Given the description of an element on the screen output the (x, y) to click on. 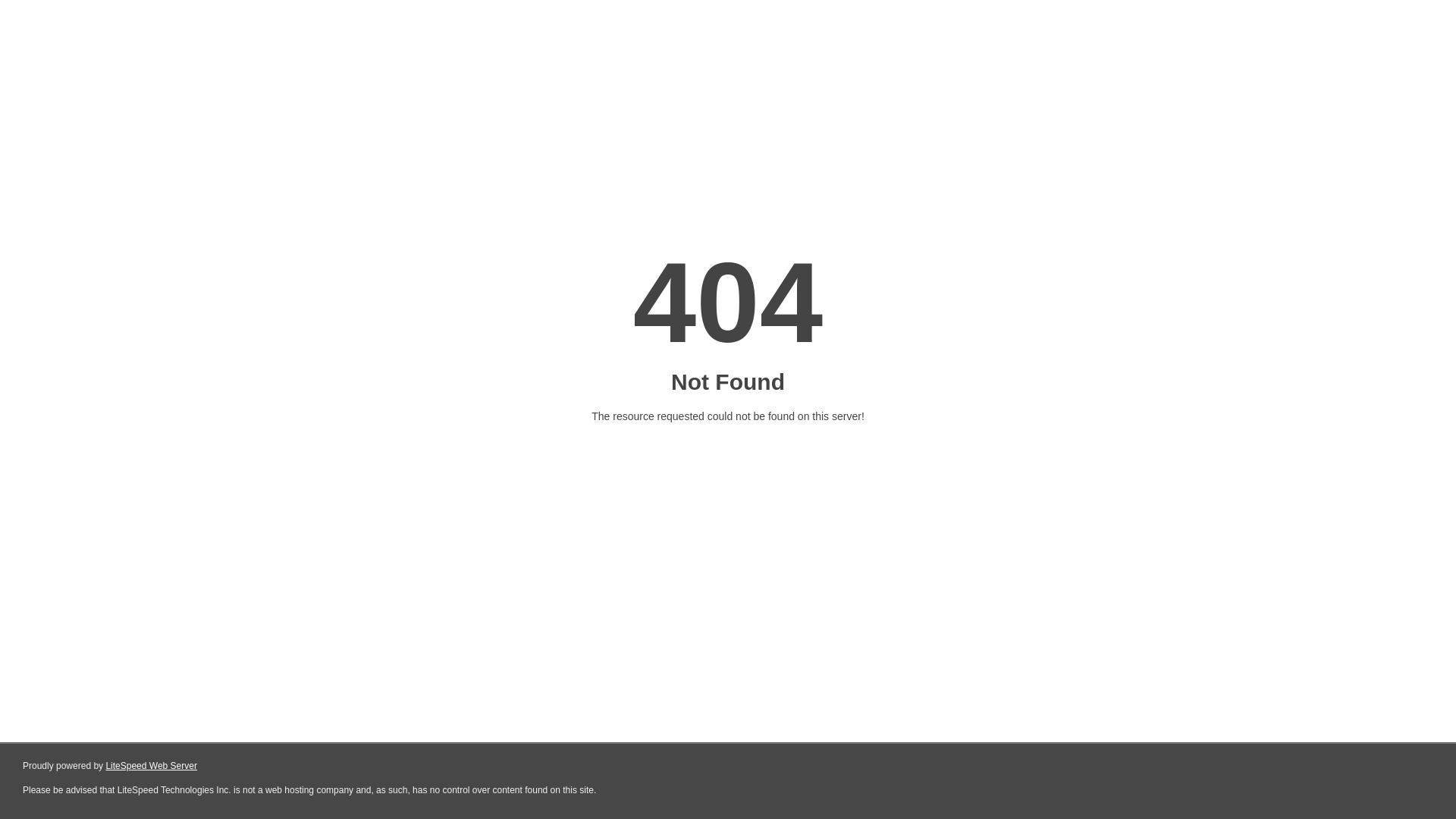
LiteSpeed Web Server Element type: text (151, 765)
